Given the description of an element on the screen output the (x, y) to click on. 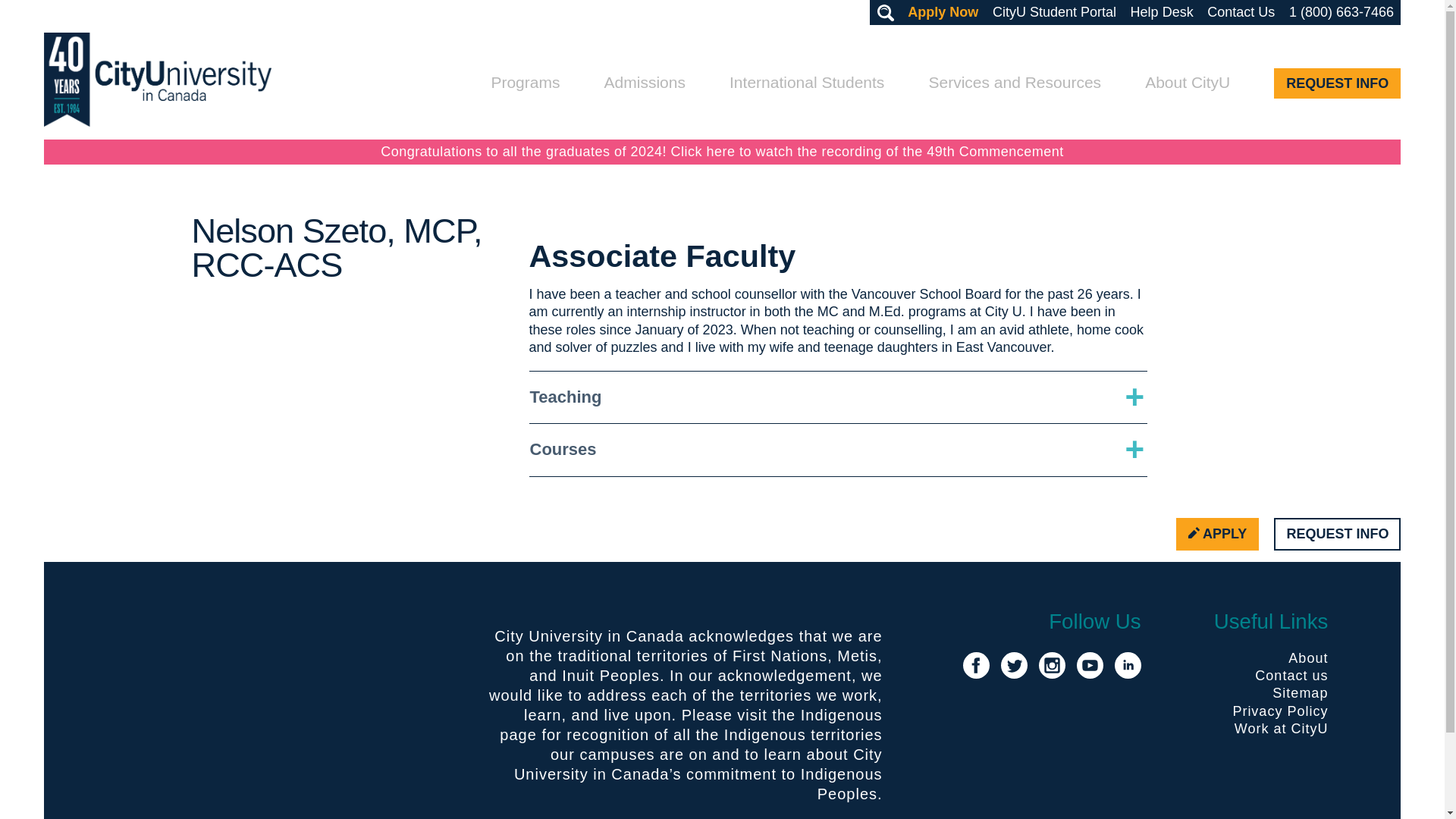
facebook icon (976, 664)
youtube icon (1090, 664)
instagram icon (1052, 664)
twitter icon (1014, 664)
linkedin icon (1128, 664)
